Given the description of an element on the screen output the (x, y) to click on. 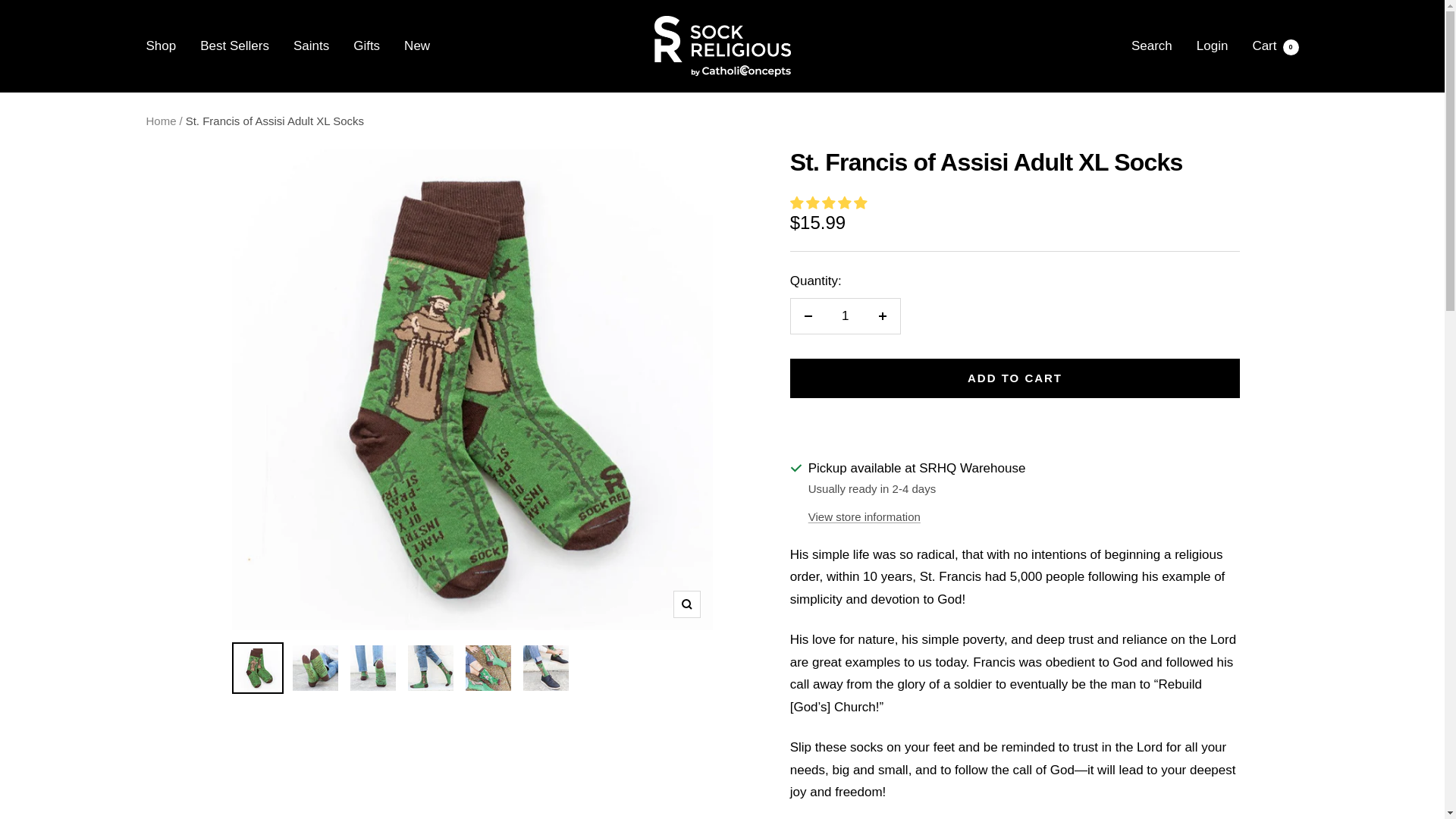
Sock Religious (721, 45)
Zoom (686, 604)
Home (160, 119)
Saints (311, 45)
Login (1212, 45)
Gifts (1275, 45)
New (366, 45)
Best Sellers (416, 45)
1 (234, 45)
